Given the description of an element on the screen output the (x, y) to click on. 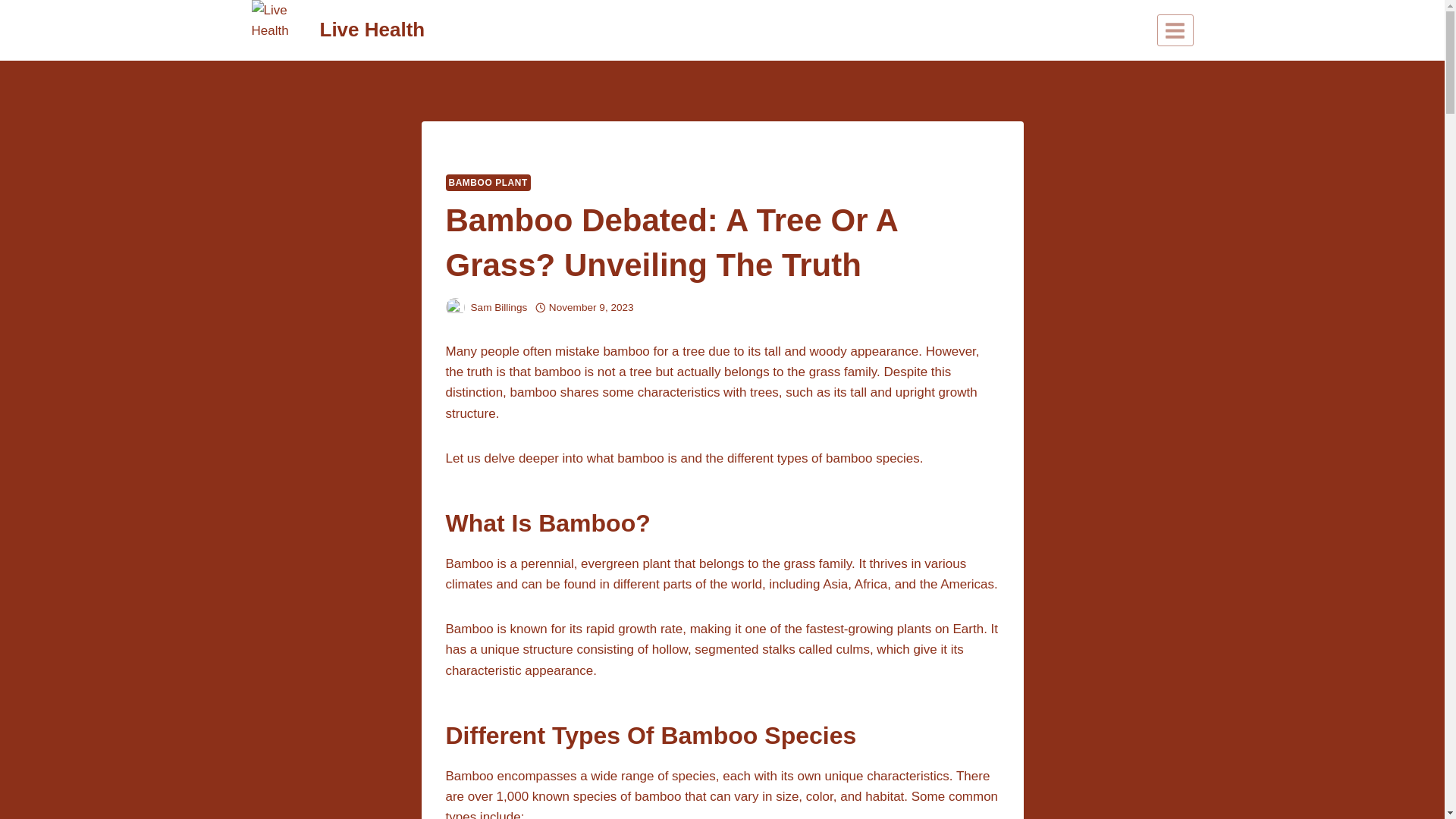
Live Health (338, 30)
Home (460, 153)
BAMBOO PLANT (488, 182)
Bamboo Plant (518, 153)
